Given the description of an element on the screen output the (x, y) to click on. 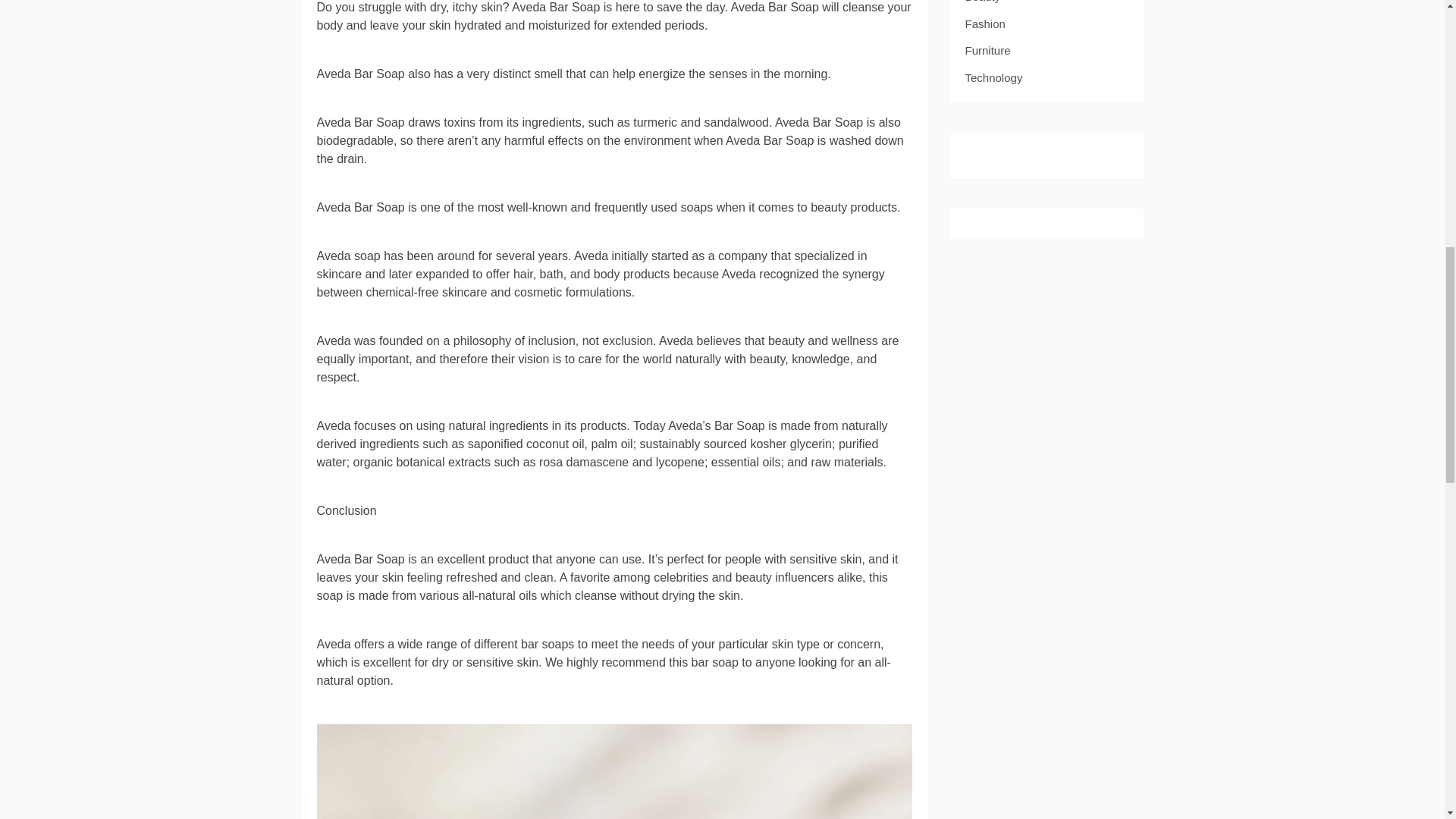
Beauty (981, 3)
Fashion (983, 24)
Technology (992, 77)
Furniture (986, 50)
